Given the description of an element on the screen output the (x, y) to click on. 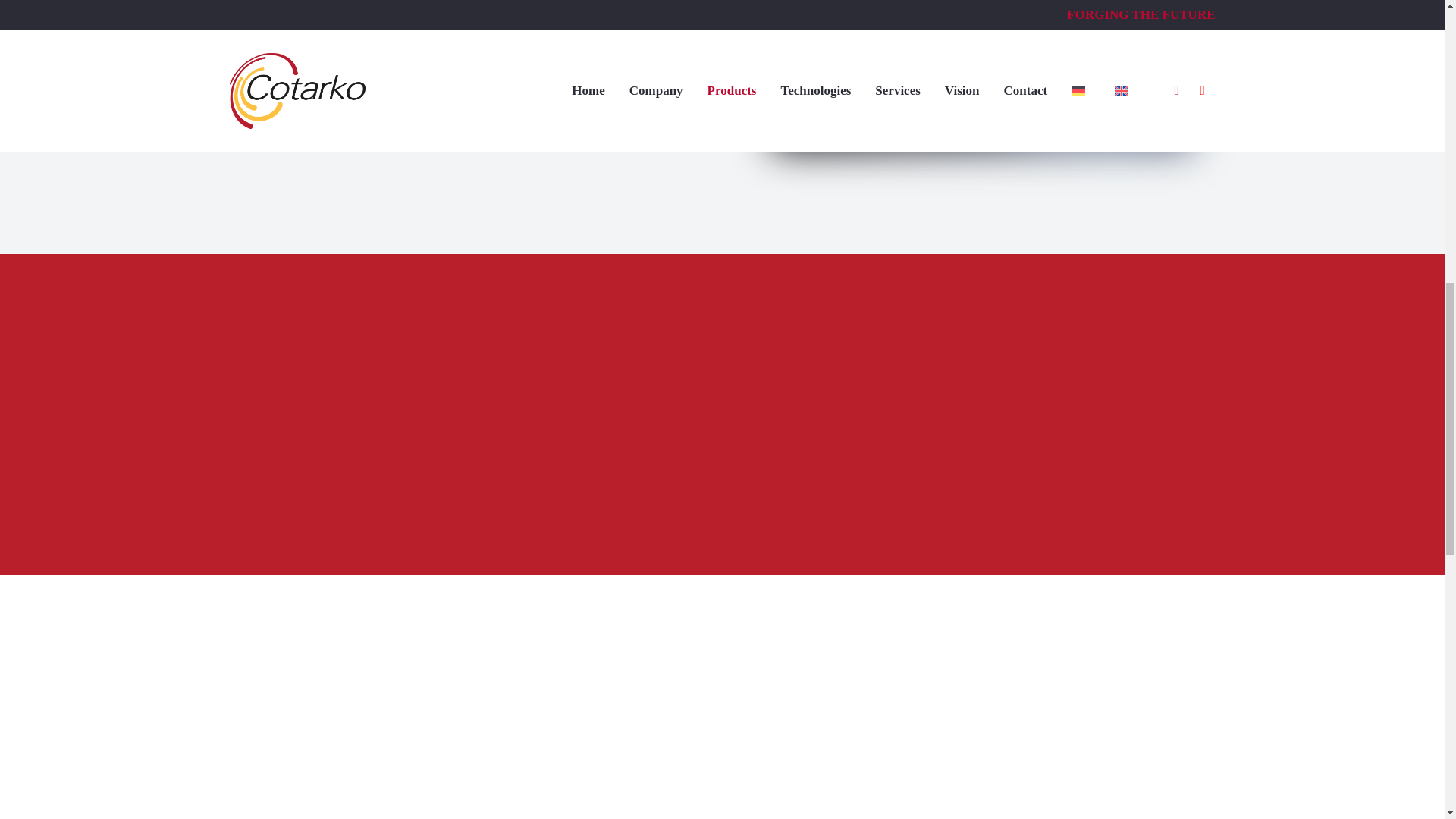
Back to top (1413, 34)
